Given the description of an element on the screen output the (x, y) to click on. 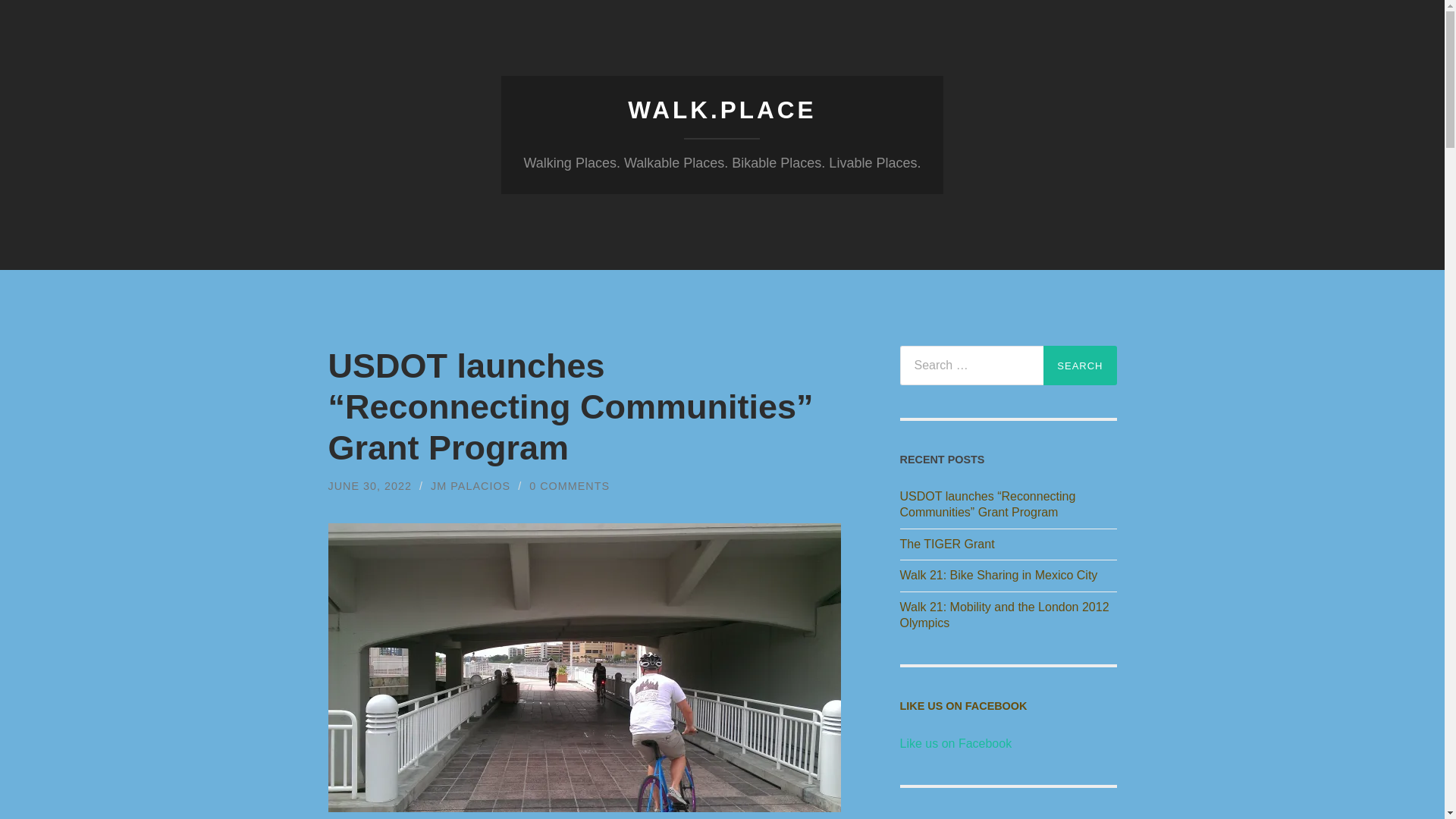
0 COMMENTS (569, 485)
Walk 21: Bike Sharing in Mexico City (1007, 575)
JM PALACIOS (470, 485)
Walk 21: Mobility and the London 2012 Olympics (1007, 615)
Search (1079, 364)
The TIGER Grant (1007, 544)
Posts by JM Palacios (470, 485)
WALK.PLACE (721, 109)
Search (1079, 364)
LIKE US ON FACEBOOK (962, 705)
